Given the description of an element on the screen output the (x, y) to click on. 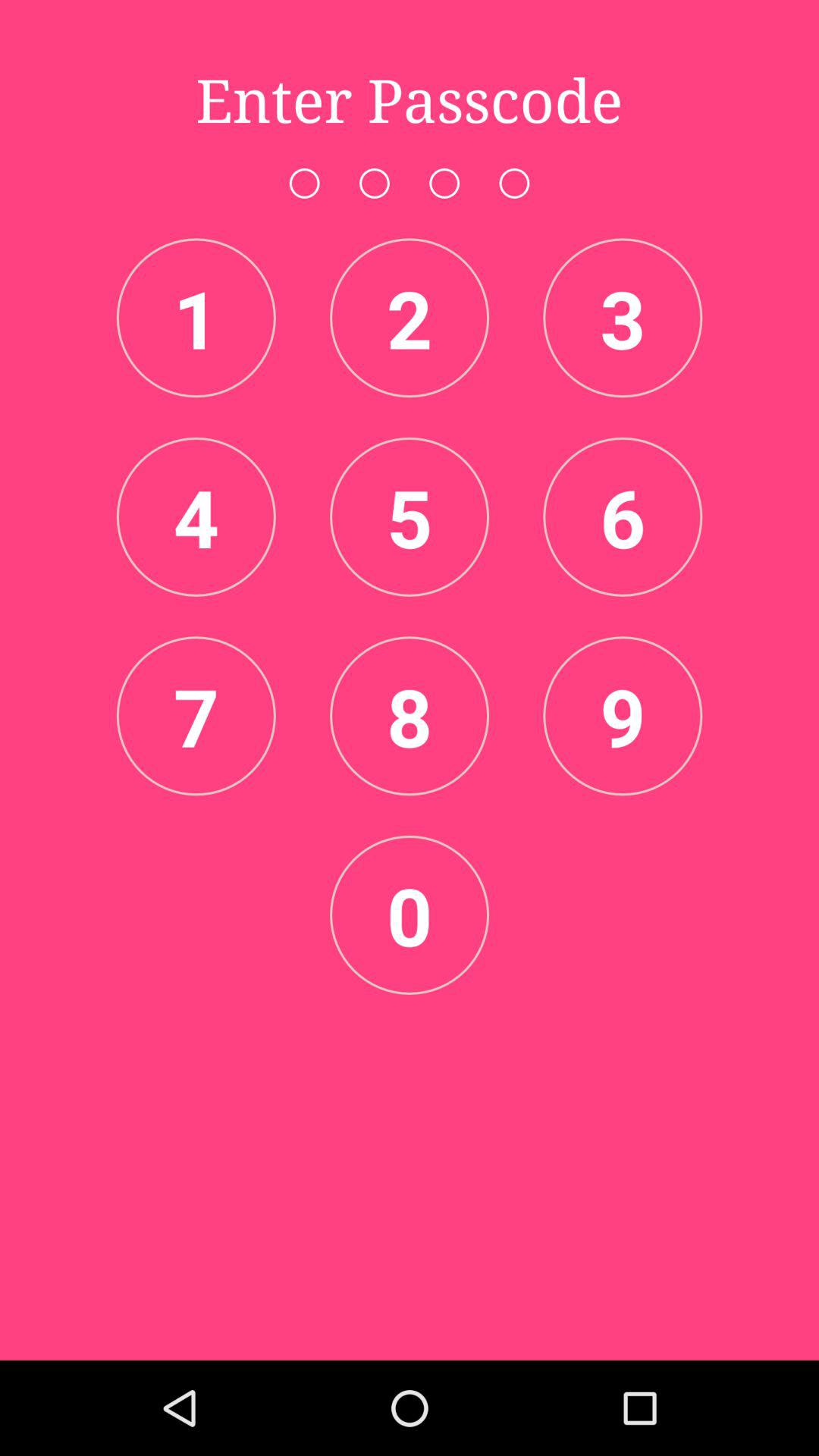
turn off the item below the 2 item (409, 516)
